Given the description of an element on the screen output the (x, y) to click on. 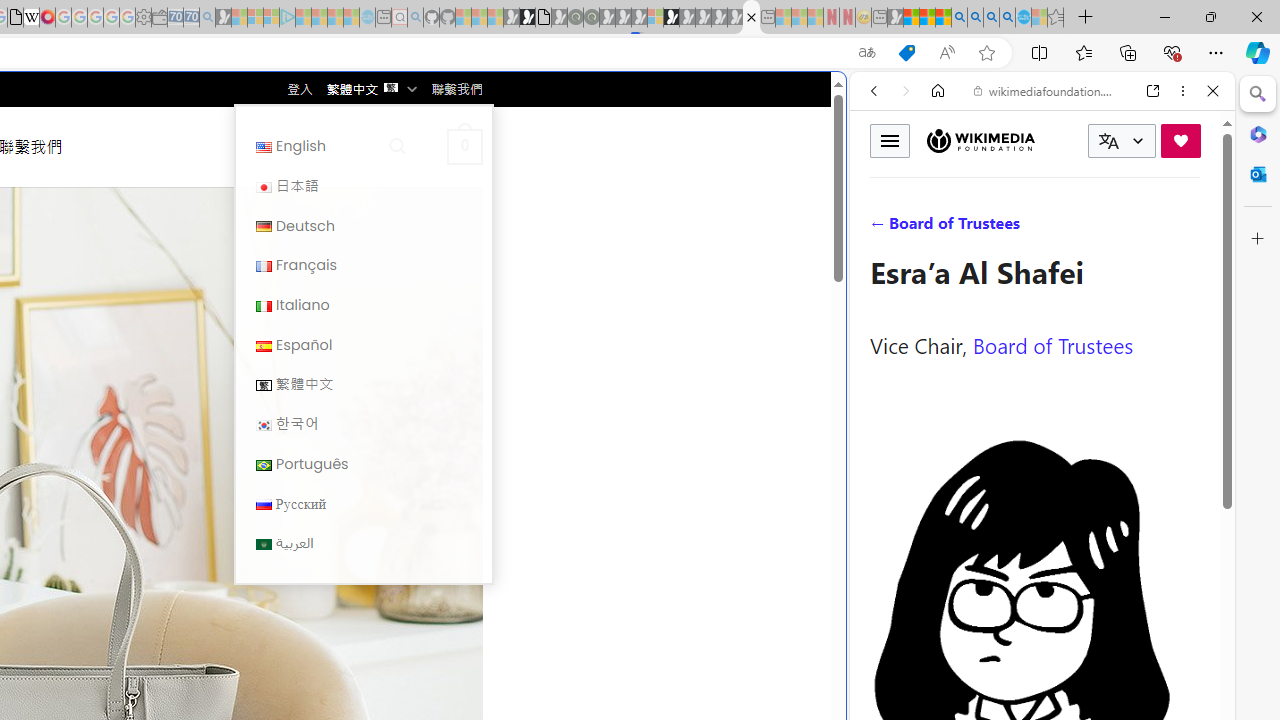
Services - Maintenance | Sky Blue Bikes - Sky Blue Bikes (1023, 17)
Toggle menu (890, 140)
 Italiano (363, 303)
Donate now (1180, 140)
